Given the description of an element on the screen output the (x, y) to click on. 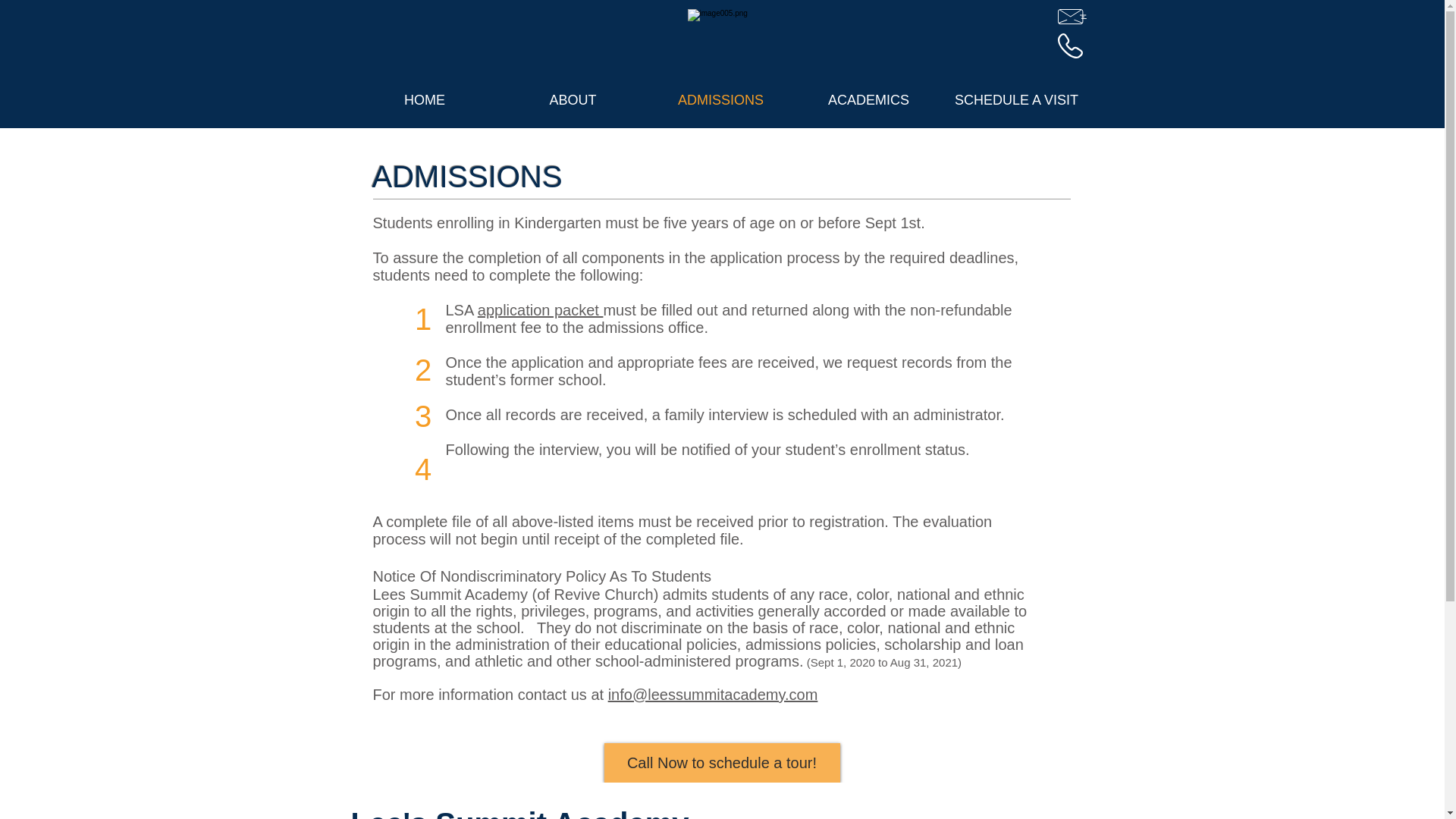
ACADEMICS (868, 100)
application packet  (540, 310)
SCHEDULE A VISIT (1015, 100)
HOME (423, 100)
Call Now to schedule a tour! (722, 762)
ABOUT (572, 100)
ADMISSIONS (719, 100)
